Given the description of an element on the screen output the (x, y) to click on. 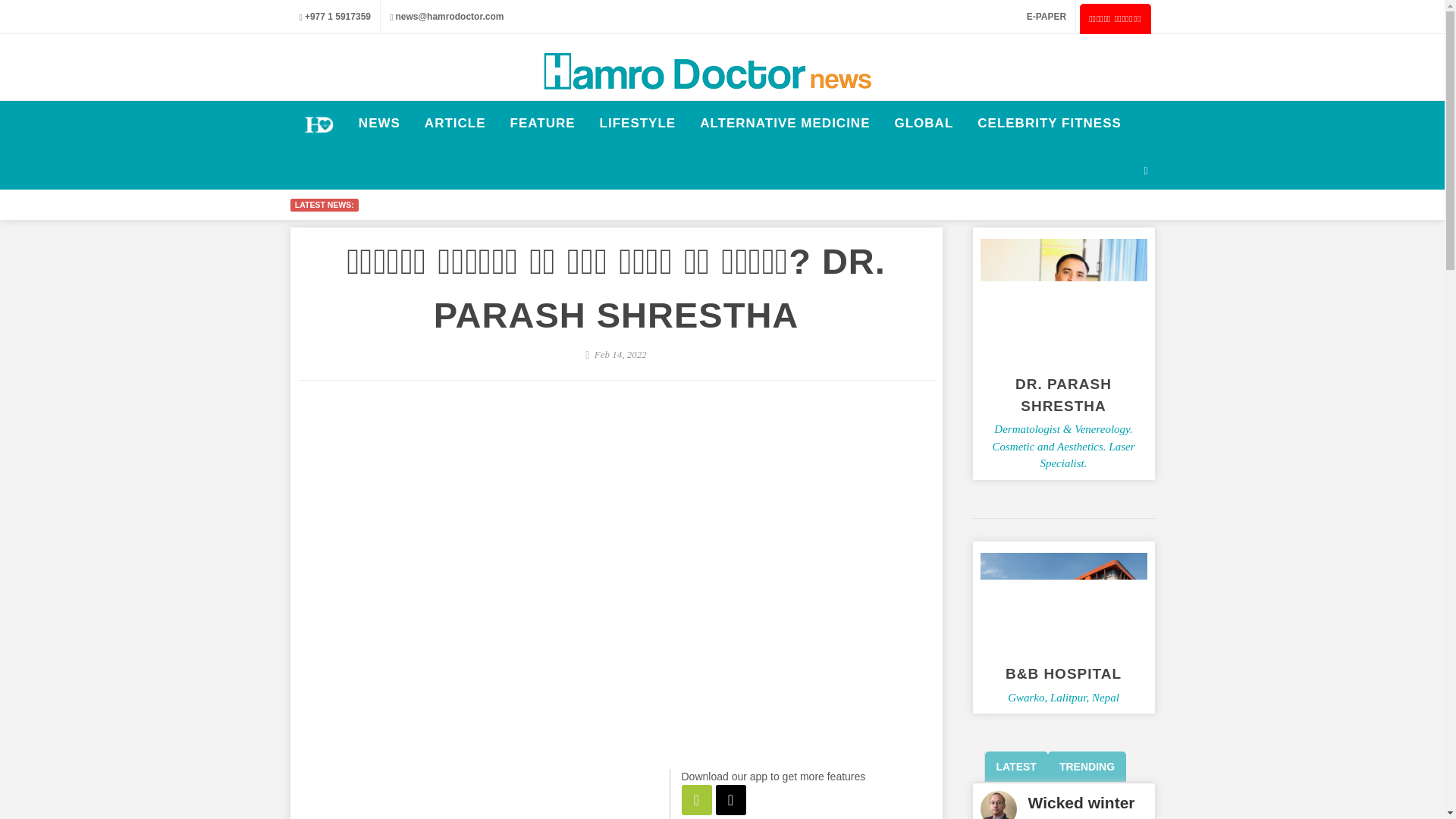
NEWS (379, 123)
CELEBRITY FITNESS (1049, 123)
ARTICLE (455, 123)
FEATURE (542, 123)
LATEST (1015, 766)
LIFESTYLE (637, 123)
GLOBAL (922, 123)
E-PAPER (1044, 16)
TRENDING (1086, 766)
Wicked winter weathers (1081, 806)
ALTERNATIVE MEDICINE (784, 123)
